Given the description of an element on the screen output the (x, y) to click on. 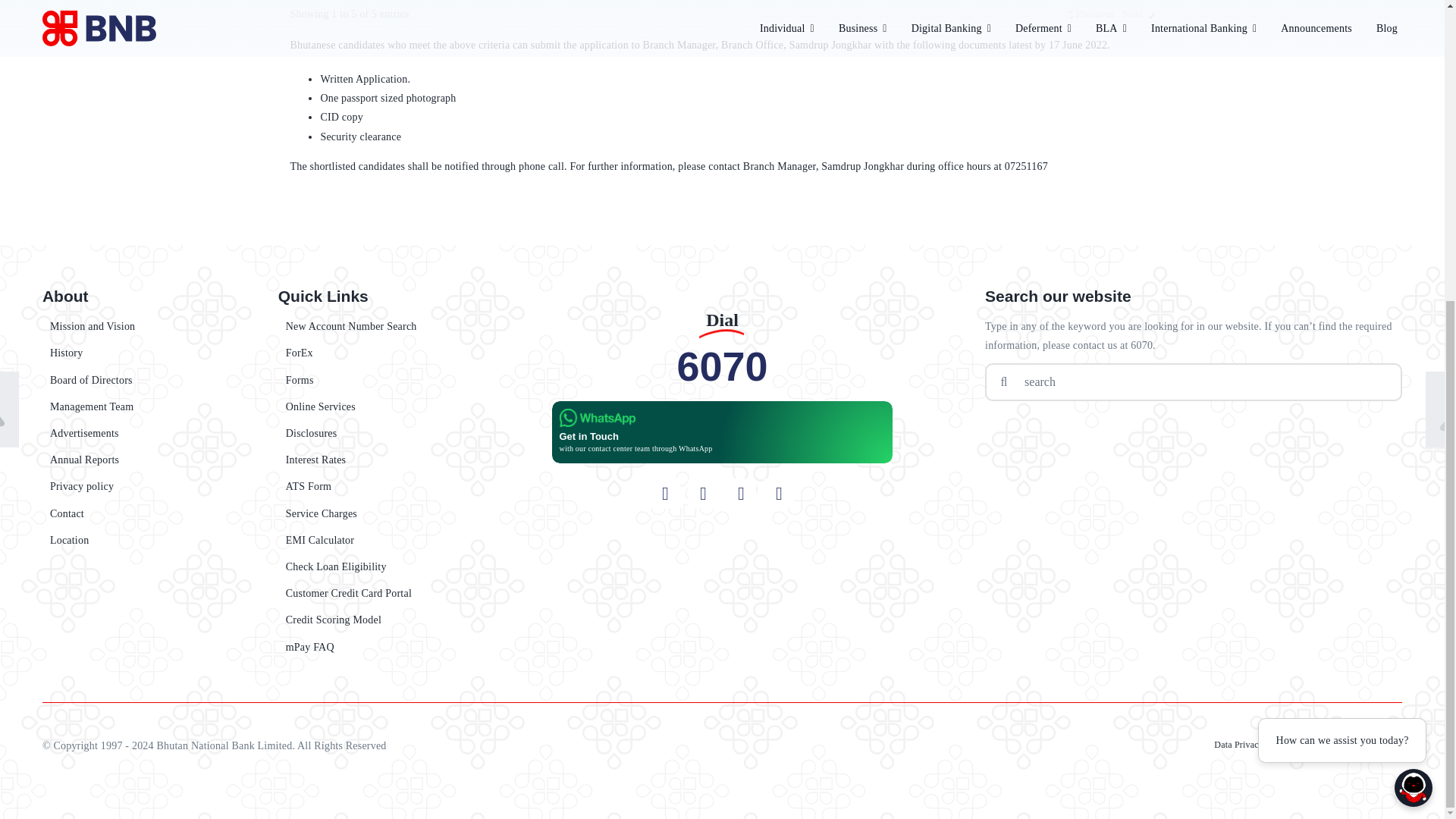
WhatsApp (596, 416)
